Given the description of an element on the screen output the (x, y) to click on. 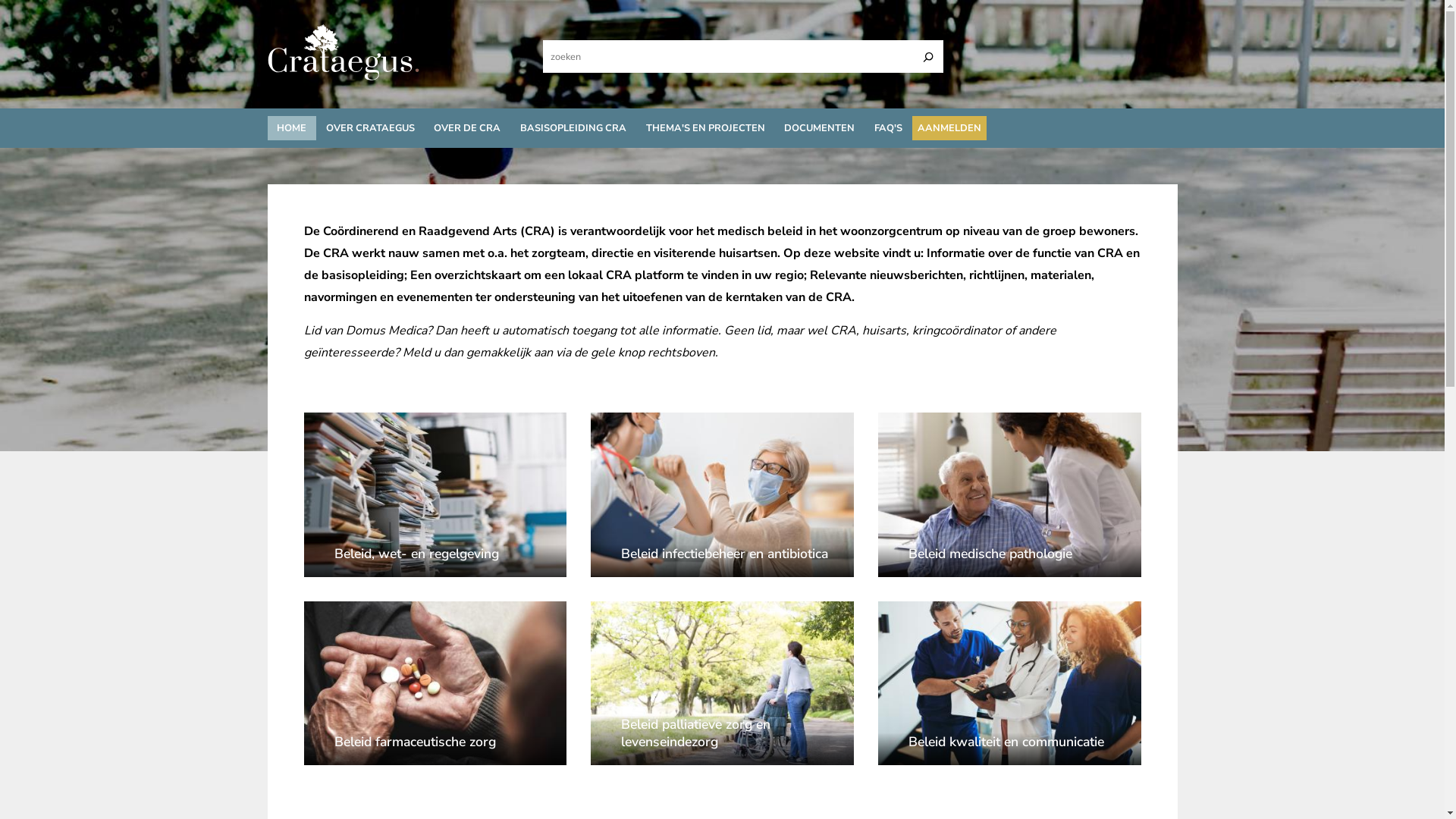
OVER CRATAEGUS Element type: text (370, 128)
Beleid infectiebeheer en antibiotica Element type: text (721, 561)
Artboard 33 Element type: text (342, 77)
Beleid palliatieve zorg en levenseindezorg Element type: text (721, 740)
Overslaan en naar de inhoud gaan Element type: text (0, 0)
Zoeken Element type: text (927, 56)
Beleid kwaliteit en communicatie Element type: text (1009, 749)
Beleid medische pathologie Element type: text (1009, 561)
Beleid farmaceutische zorg Element type: text (434, 749)
DOCUMENTEN Element type: text (819, 128)
Image Element type: text (892, 608)
Beleid, wet- en regelgeving Element type: text (434, 561)
Image Element type: text (317, 419)
OVER DE CRA Element type: text (467, 128)
Image Element type: text (604, 419)
Image Element type: text (317, 608)
Image Element type: text (604, 608)
AANMELDEN Element type: text (949, 128)
FAQ'S Element type: text (888, 128)
HOME Element type: text (291, 128)
THEMA'S EN PROJECTEN Element type: text (705, 128)
BASISOPLEIDING CRA Element type: text (573, 128)
Image Element type: text (892, 419)
